Given the description of an element on the screen output the (x, y) to click on. 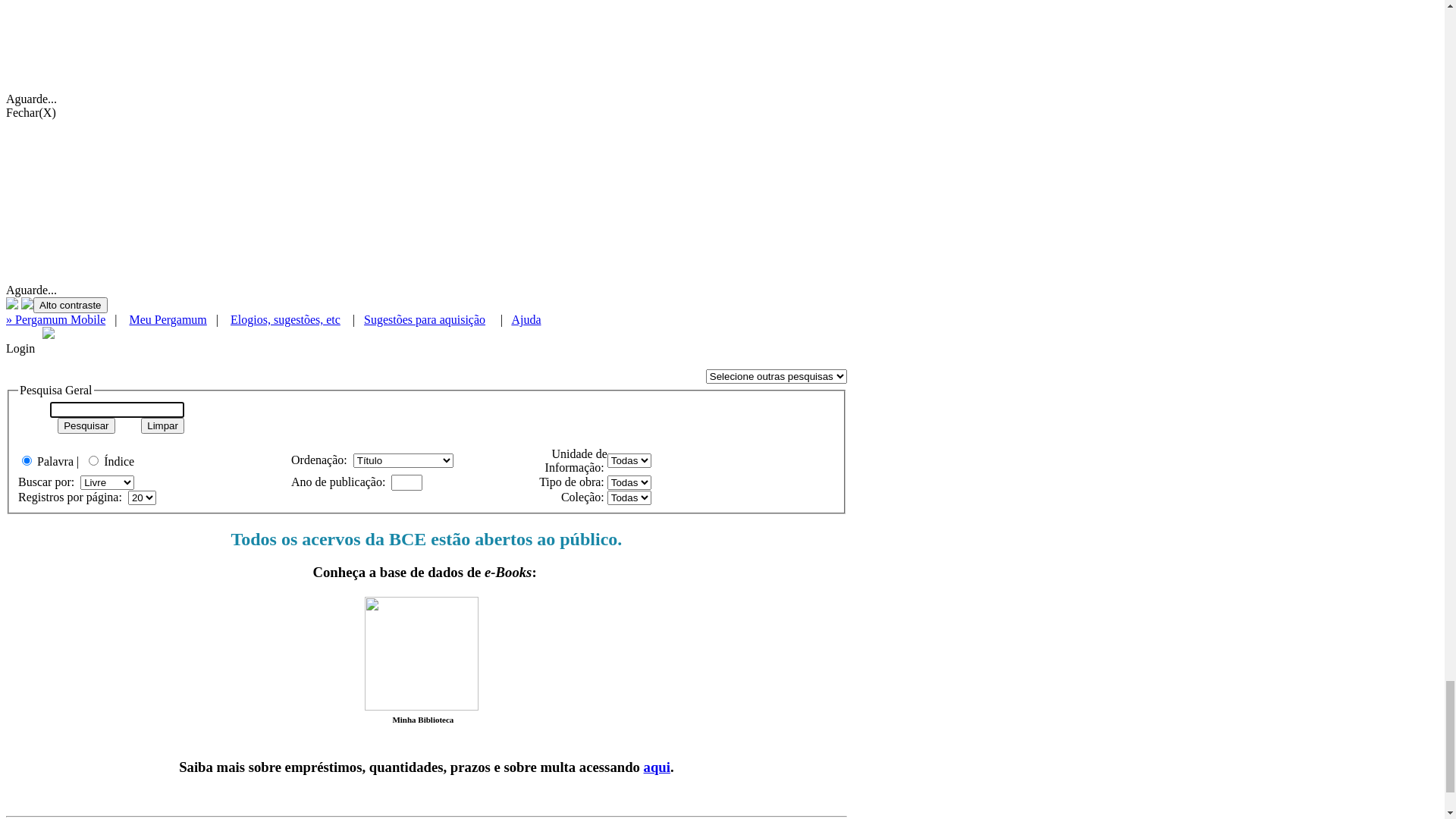
Fechar(X) Element type: text (722, 258)
Fechar(X) Element type: text (722, 12)
Fechar(X) Element type: text (722, 640)
Fechar(X) Element type: text (722, 26)
Fechar (X) Element type: text (722, 40)
Fechar(X) Element type: text (722, 67)
Fechar(X) Element type: text (722, 53)
Fechar(X) Element type: text (722, 449)
